Given the description of an element on the screen output the (x, y) to click on. 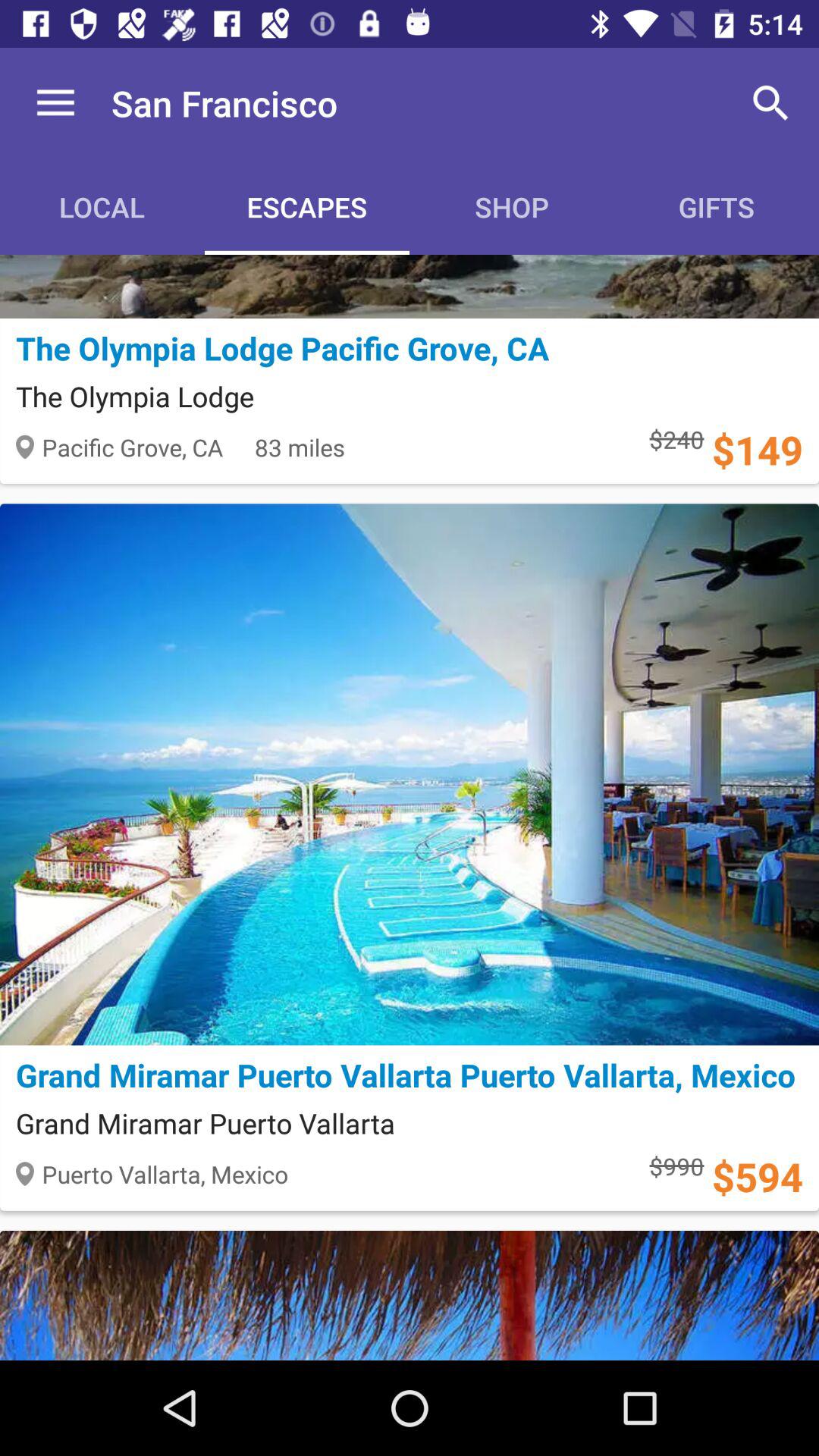
tap item to the left of san francisco (55, 103)
